Given the description of an element on the screen output the (x, y) to click on. 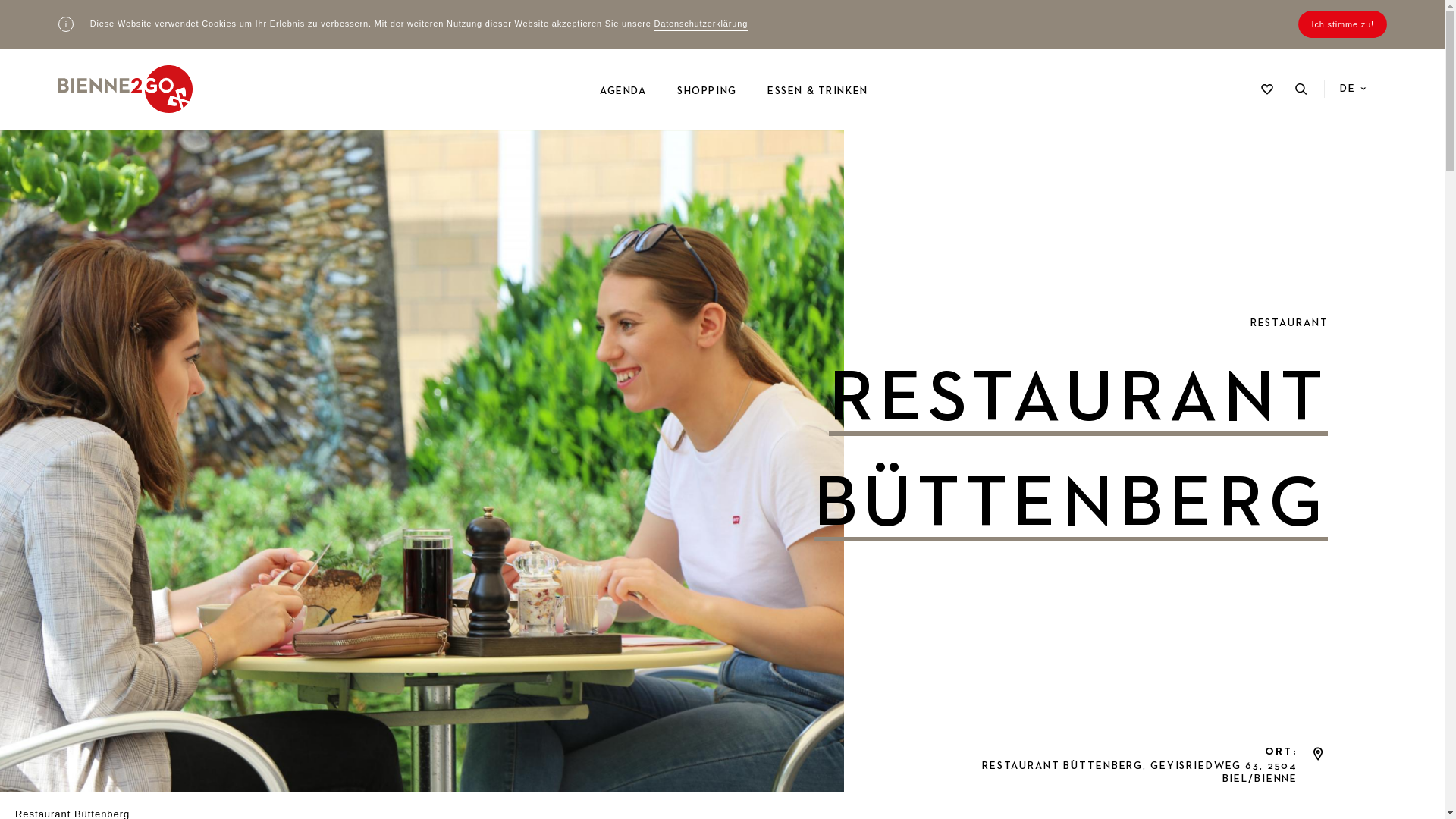
ESSEN & TRINKEN Element type: text (817, 90)
SHOPPING Element type: text (707, 90)
Suchen Element type: hover (1300, 88)
Favoriten Element type: hover (1266, 88)
Ich stimme zu! Element type: text (1342, 23)
AGENDA Element type: text (622, 90)
Ort Element type: hover (1317, 753)
